Given the description of an element on the screen output the (x, y) to click on. 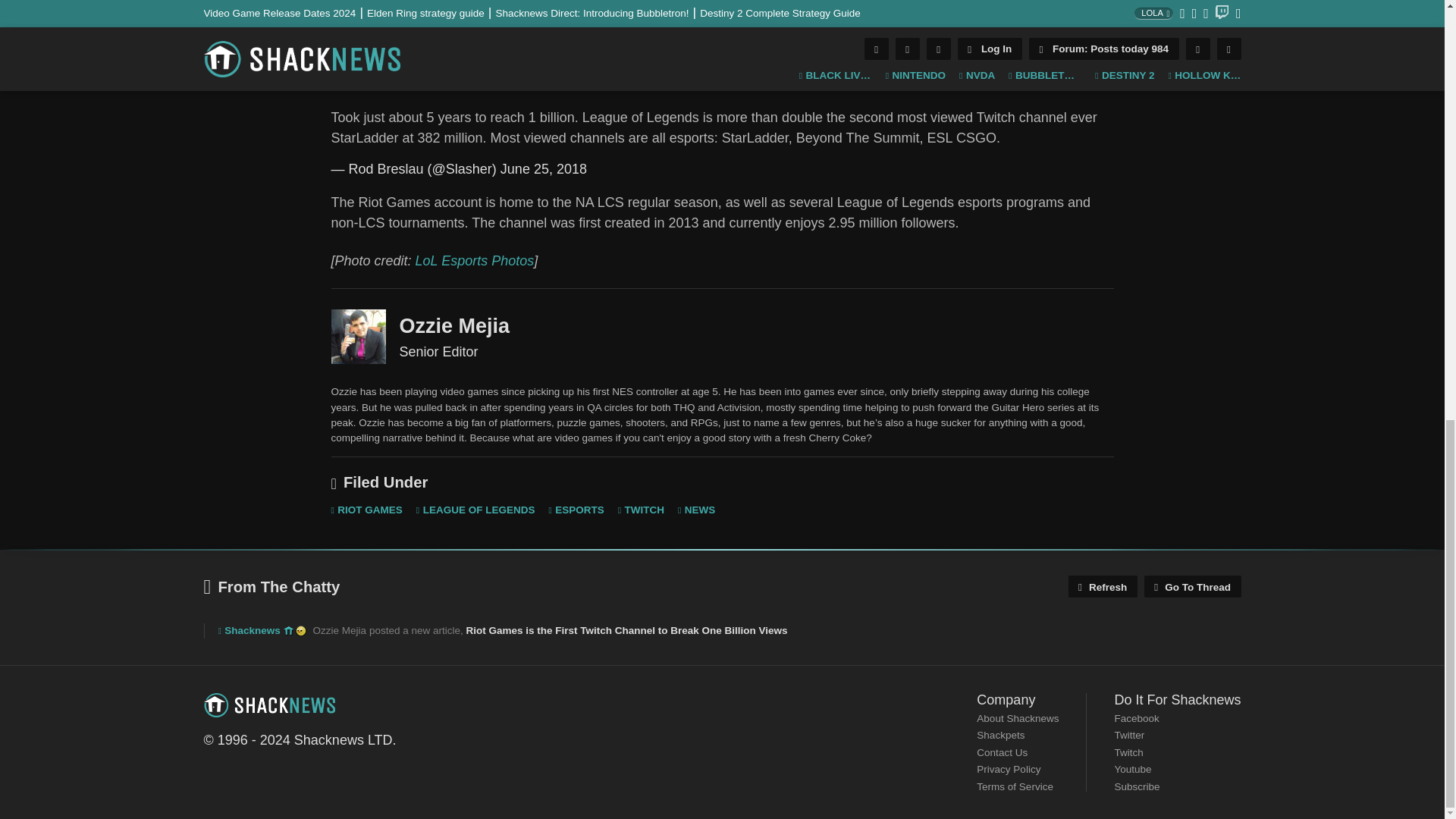
legacy 20 years (300, 630)
legacy 10 years (288, 630)
Senior Editor (357, 336)
